Given the description of an element on the screen output the (x, y) to click on. 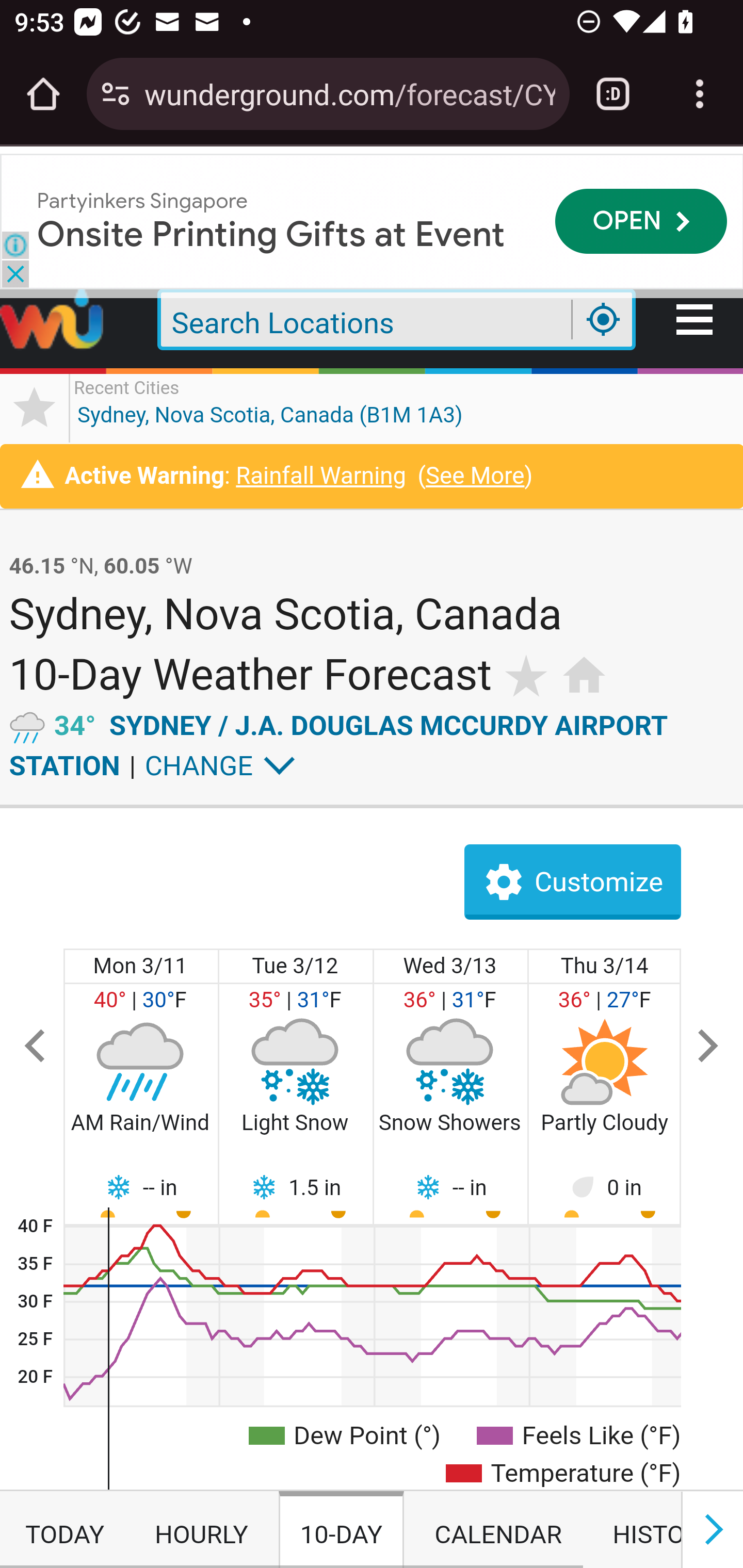
Open the home page (43, 93)
Connection is secure (115, 93)
Switch or close tabs (612, 93)
Customize and control Google Chrome (699, 93)
wunderground.com/forecast/CYQY (349, 92)
Partyinkers Singapore (142, 199)
OPEN (640, 221)
Onsite Printing Gifts at Event (270, 233)
Weather Underground Logo _ (52, 320)
Menu (695, 320)
Manage Favorites star (34, 407)
Sydney, Nova Scotia, Canada (B1M 1A3) (269, 407)
Rainfall Warning (320, 476)
See More (474, 476)
CHANGE (199, 766)
settings Customize settings Customize (572, 881)
Mon 3/11 (140, 966)
Tue 3/12 (295, 966)
Wed 3/13 (450, 966)
Thu 3/14 (604, 966)
Previous (36, 1047)
Next (708, 1047)
Snow -- in Snow -- in (140, 1187)
Snow 1.5 in Snow 1.5 in (295, 1187)
Snow -- in Snow -- in (450, 1187)
Precip 0 in Precip 0 in (604, 1187)
TODAY (63, 1529)
HOURLY (200, 1529)
10-DAY (340, 1529)
CALENDAR (498, 1529)
